Given the description of an element on the screen output the (x, y) to click on. 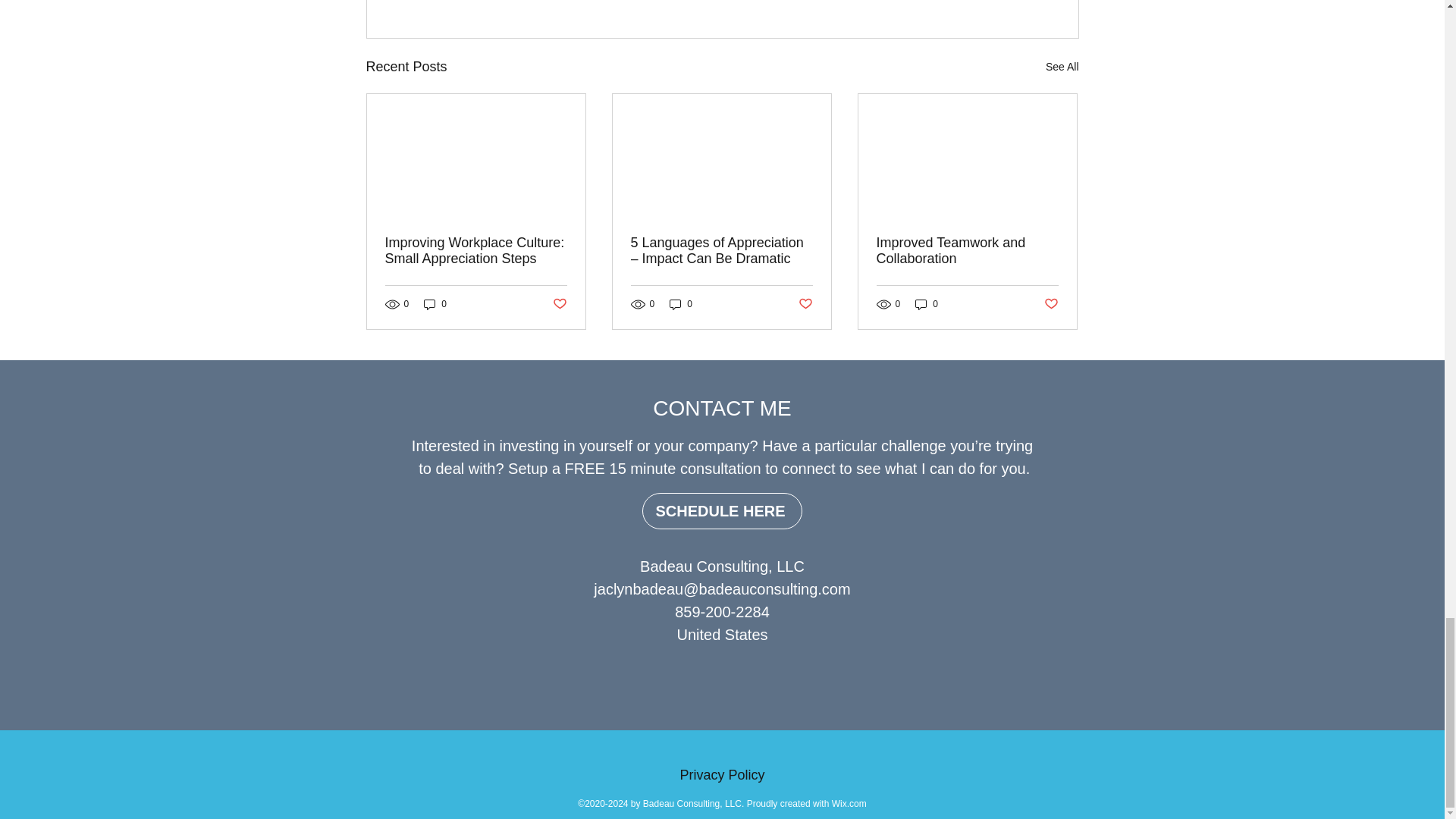
Privacy Policy (722, 767)
